Given the description of an element on the screen output the (x, y) to click on. 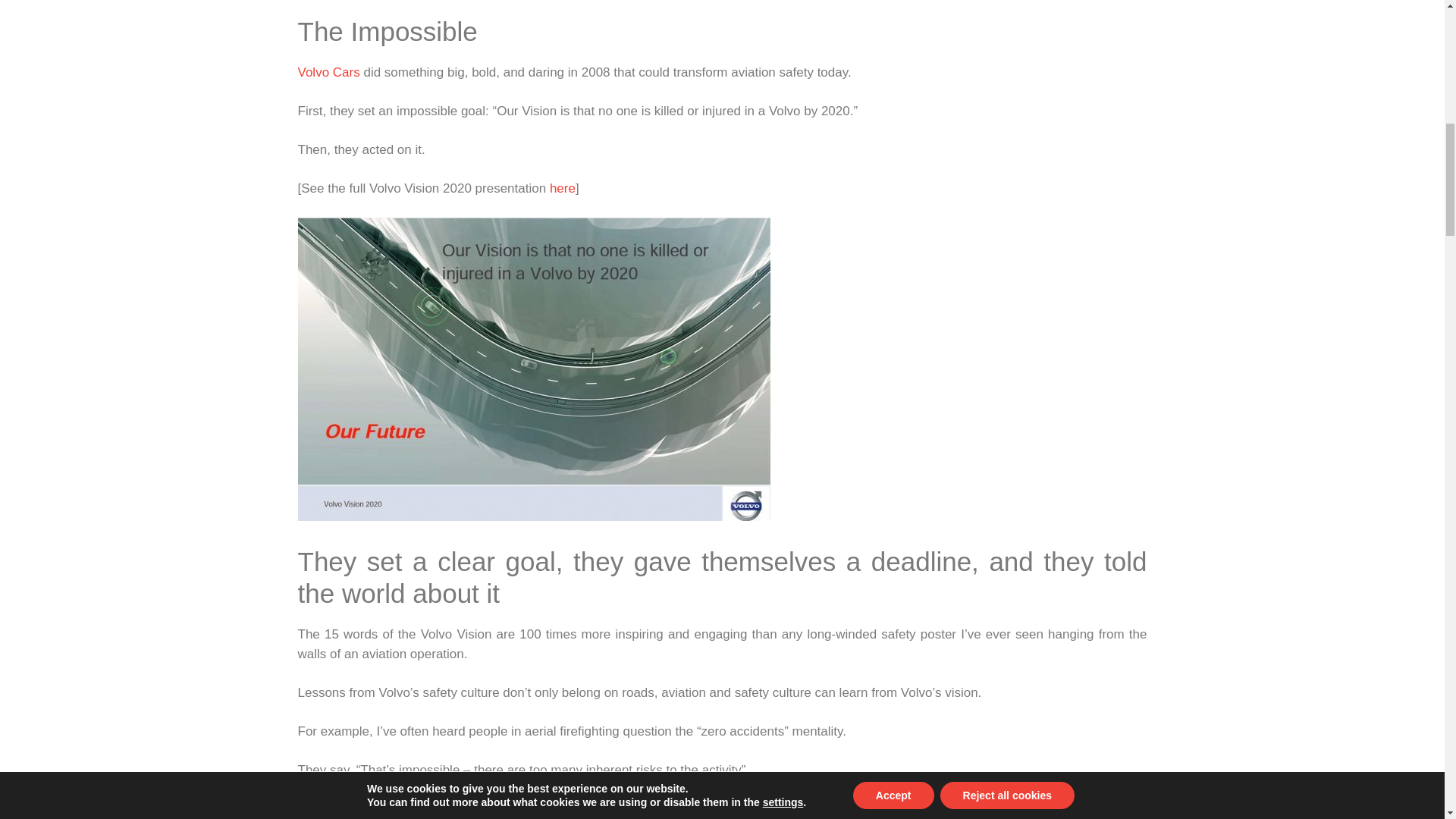
here (562, 187)
Volvo Cars (328, 72)
Scroll back to top (1406, 720)
